Given the description of an element on the screen output the (x, y) to click on. 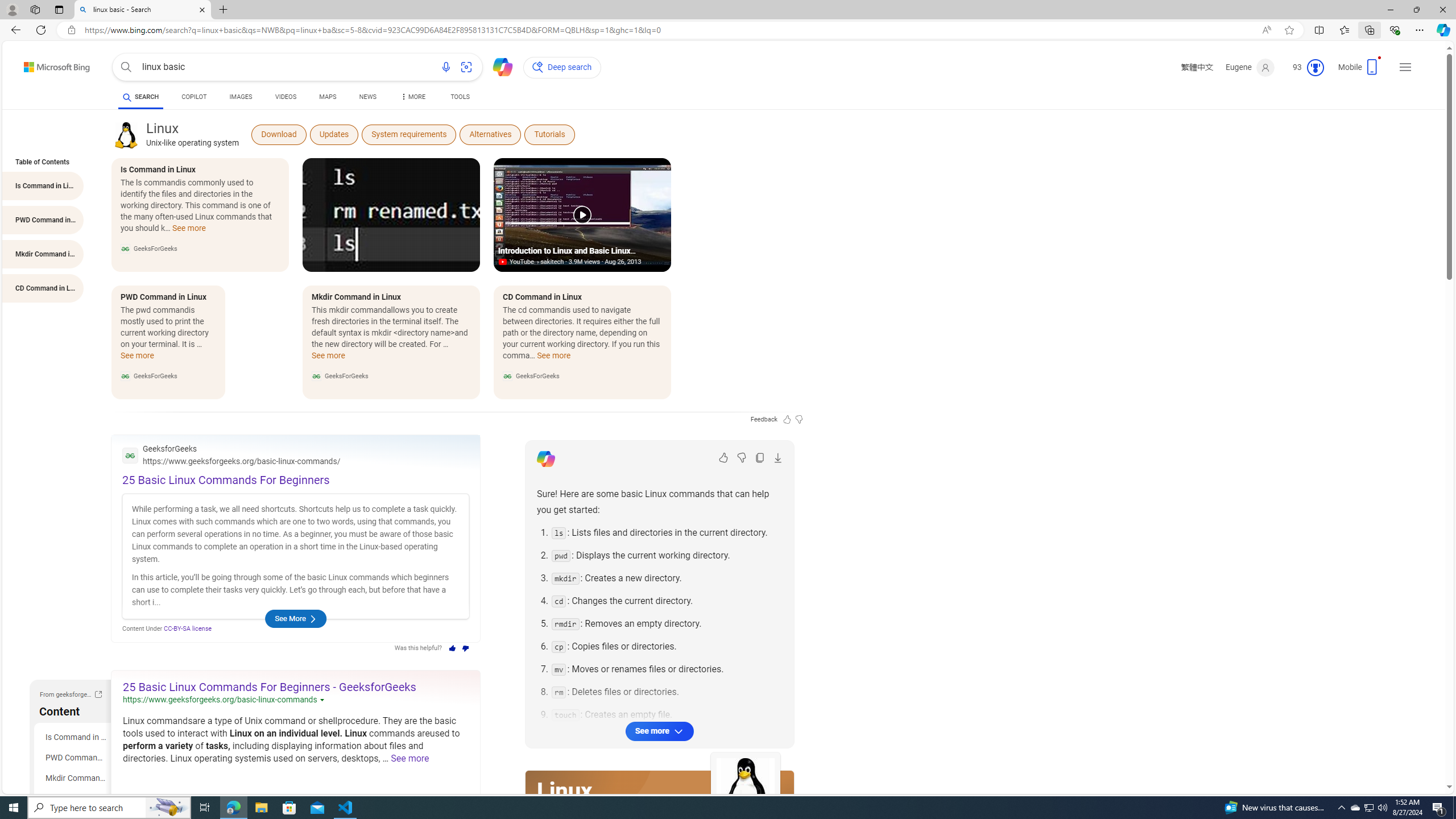
See more CD Command in Linux (553, 358)
Thumbs down (465, 648)
Feedback Dislike (798, 418)
SEARCH (140, 96)
Export (777, 457)
CD Command in Linux (74, 798)
AutomationID: b-scopeListItem-conv (193, 98)
Alternatives (490, 134)
CC-BY-SA license (187, 628)
Video source site (503, 261)
From geeksforgeeks.org (97, 696)
AutomationID: b-scopeListItem-local (327, 98)
